Given the description of an element on the screen output the (x, y) to click on. 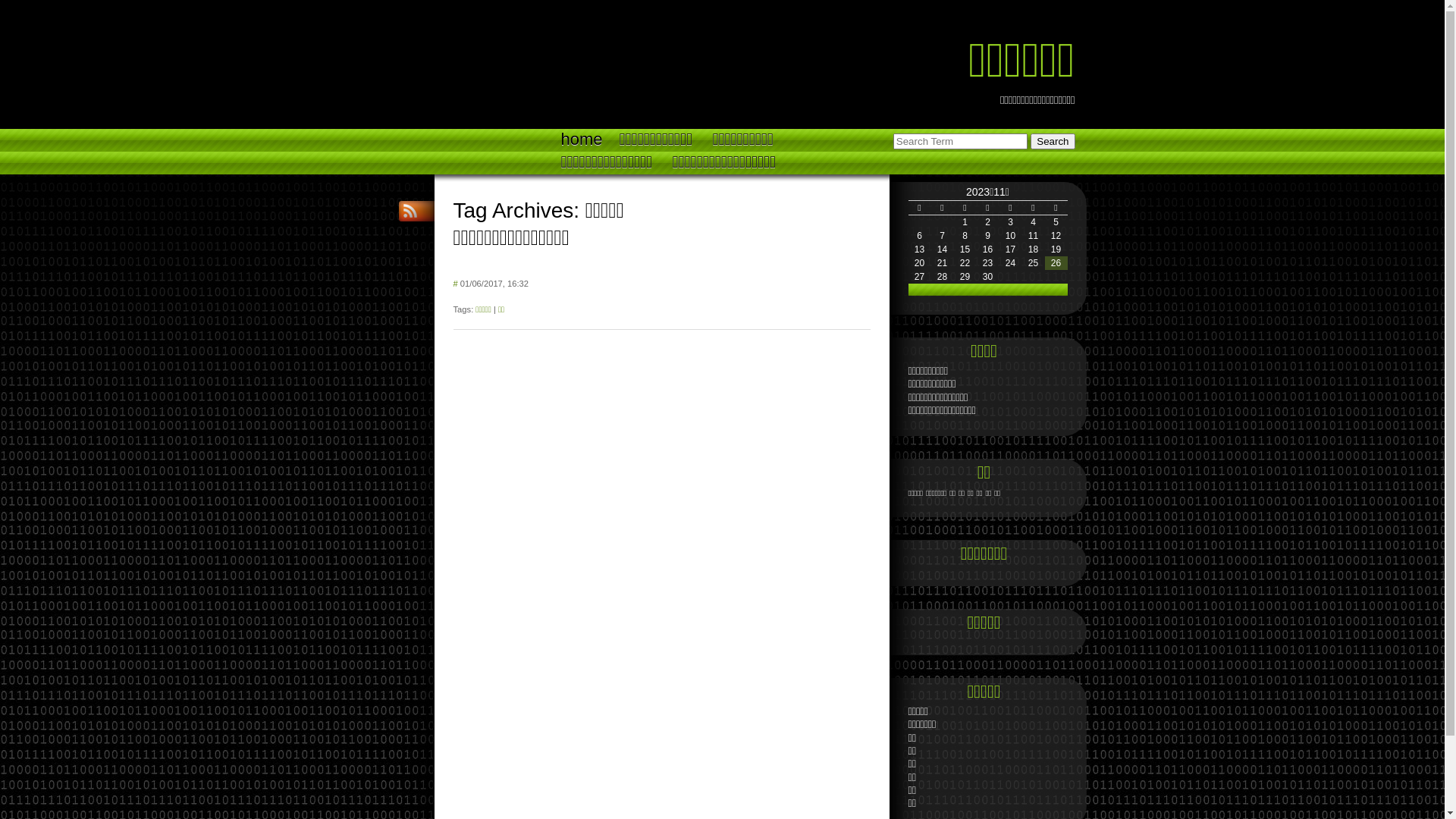
RSS Element type: text (410, 210)
home Element type: text (580, 139)
Search Element type: text (1052, 141)
# Element type: text (455, 283)
